Given the description of an element on the screen output the (x, y) to click on. 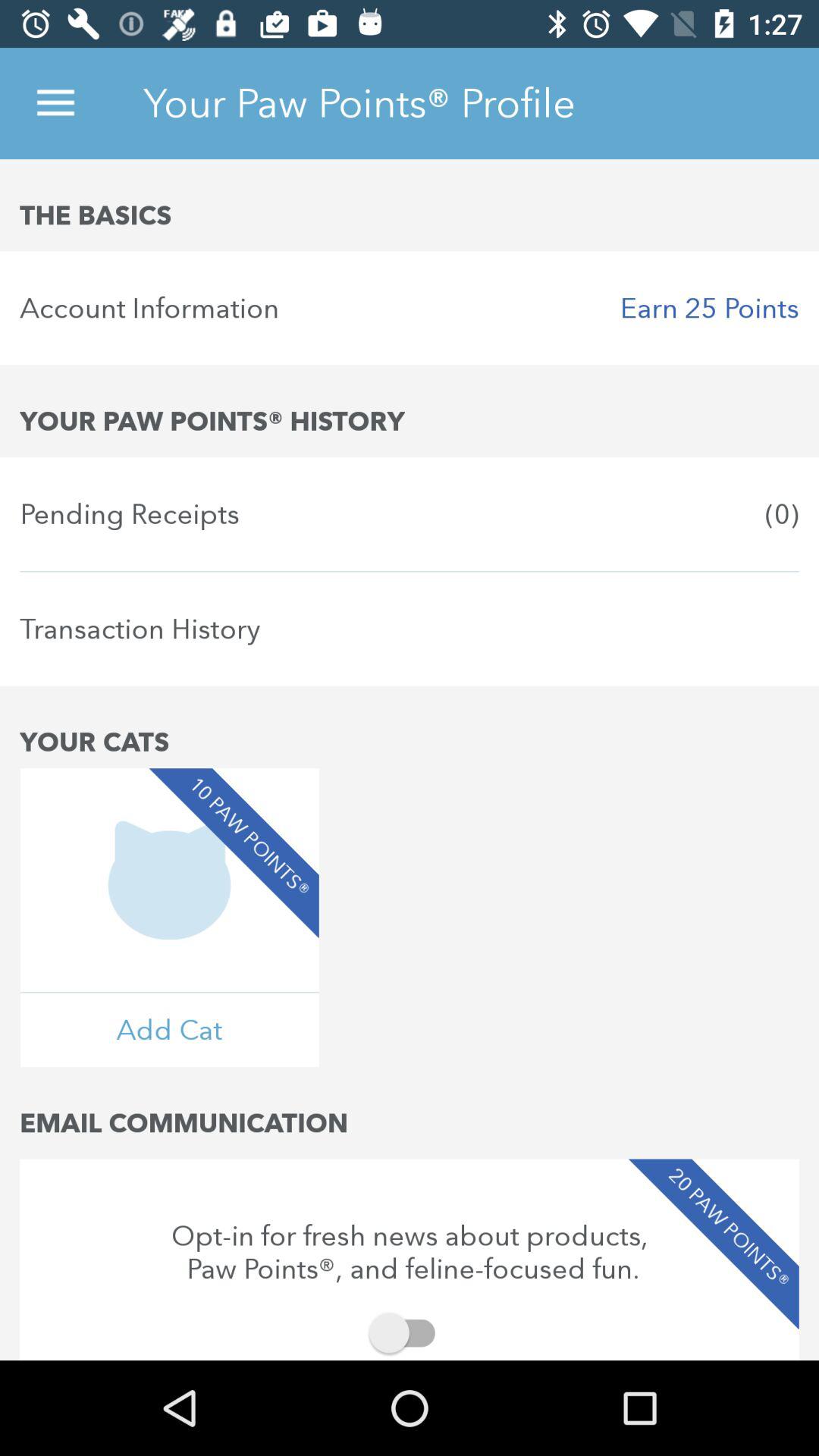
select item above the your cats item (409, 628)
